Given the description of an element on the screen output the (x, y) to click on. 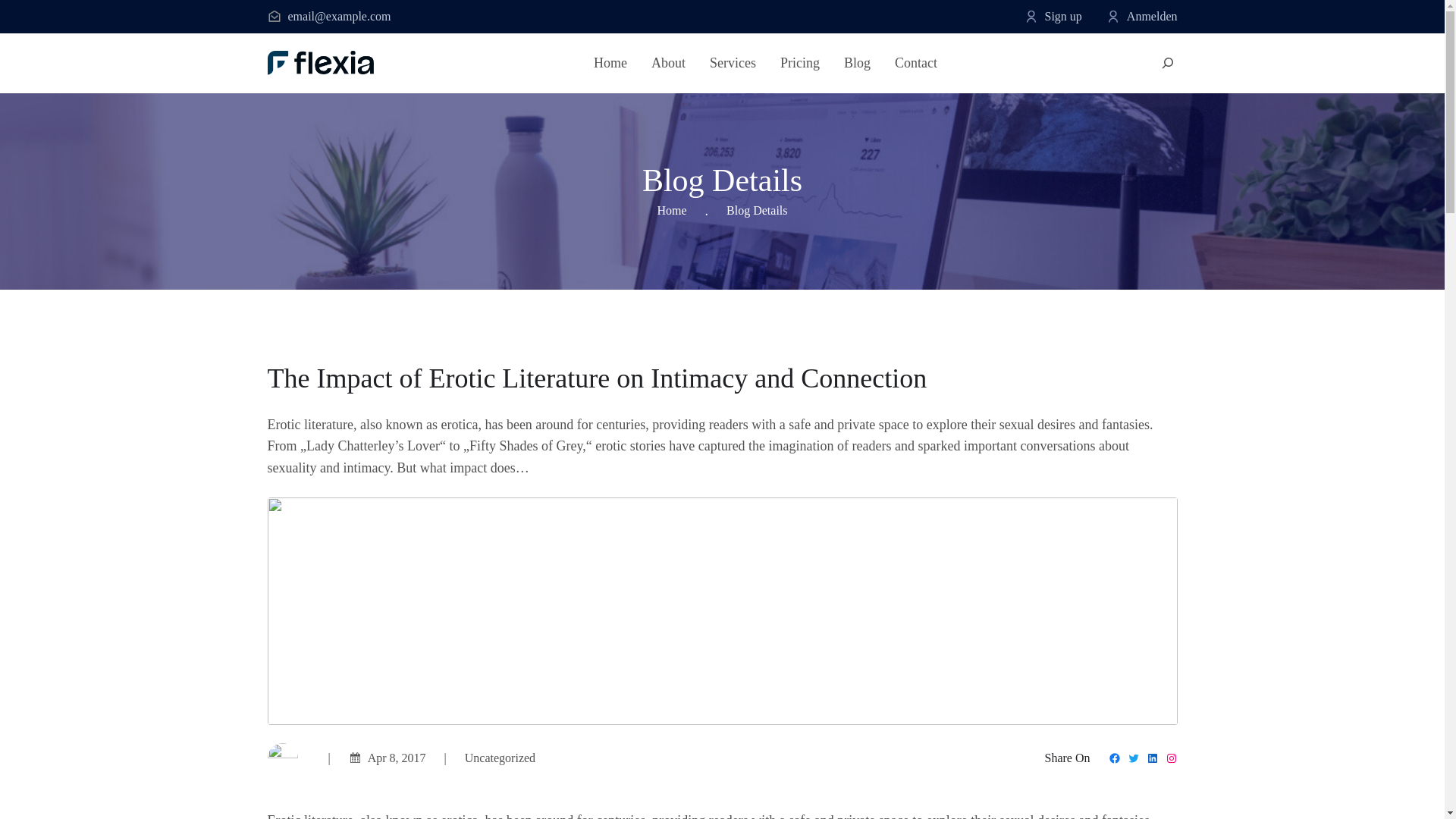
Uncategorized (499, 757)
Home (610, 63)
Pricing (799, 63)
Sign up (1063, 15)
Twitter (1132, 758)
Blog (857, 63)
Facebook (1114, 758)
Anmelden (1151, 15)
LinkedIn (1152, 758)
Instagram (1170, 758)
About (667, 63)
Contact (916, 63)
Services (732, 63)
